Given the description of an element on the screen output the (x, y) to click on. 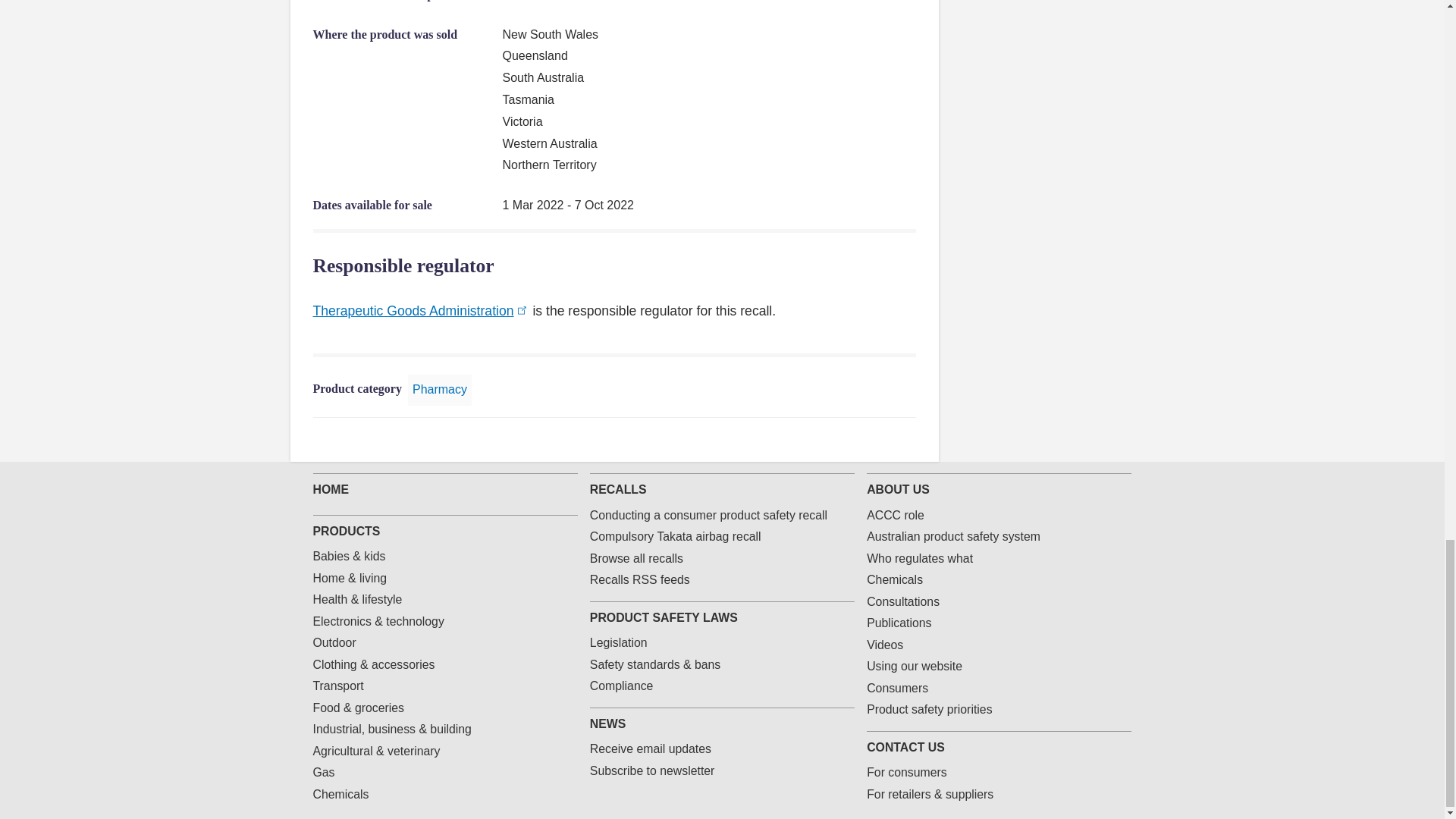
Print (906, 439)
Share on Facebook (809, 439)
Share on Twitter (834, 439)
Email (882, 439)
Share on LinkedIn (857, 439)
